Given the description of an element on the screen output the (x, y) to click on. 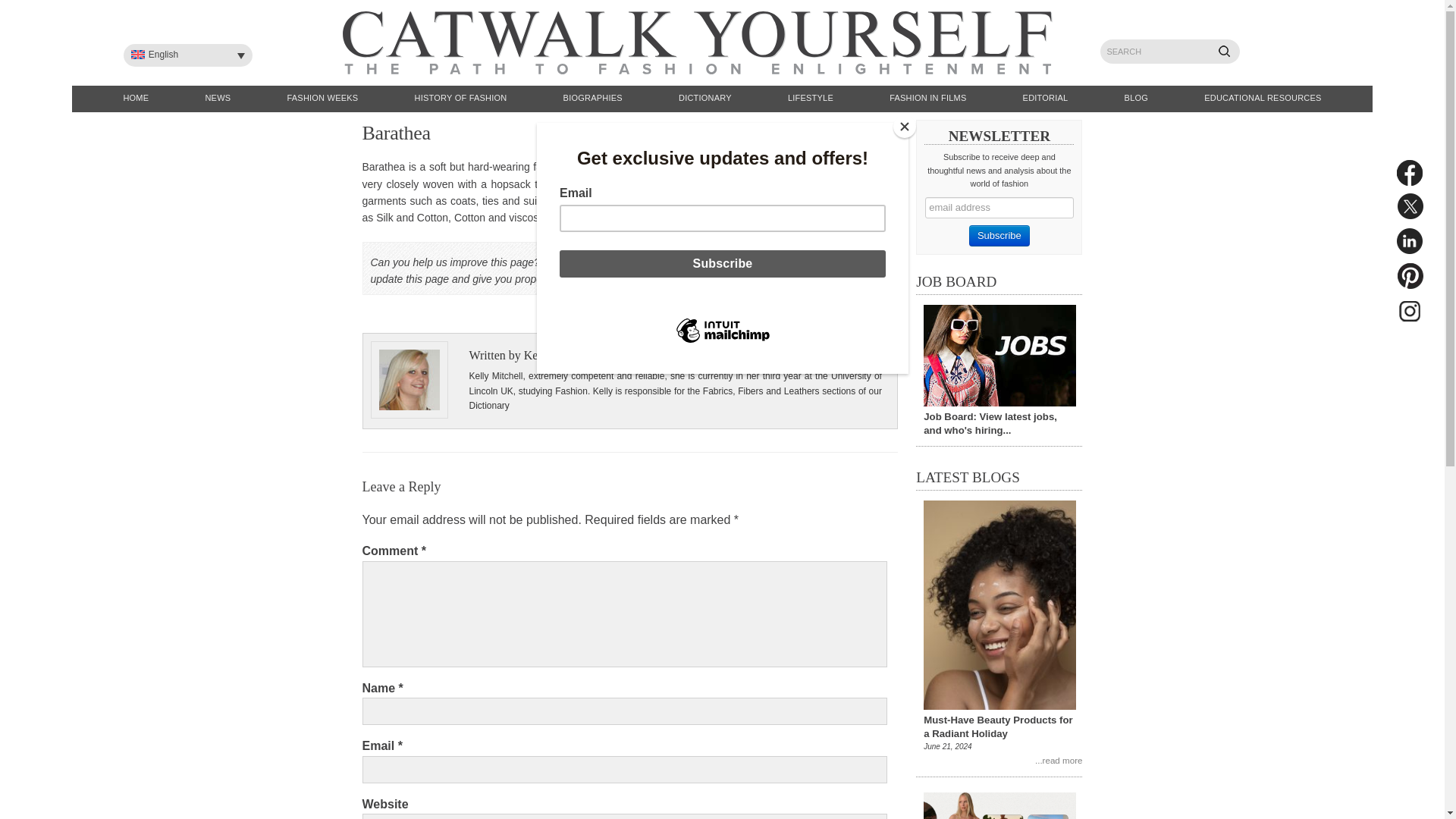
English (187, 55)
Search (1229, 55)
Search (1229, 55)
Subscribe (999, 235)
NEWS (217, 98)
FASHION WEEKS (321, 98)
HOME (135, 98)
